Given the description of an element on the screen output the (x, y) to click on. 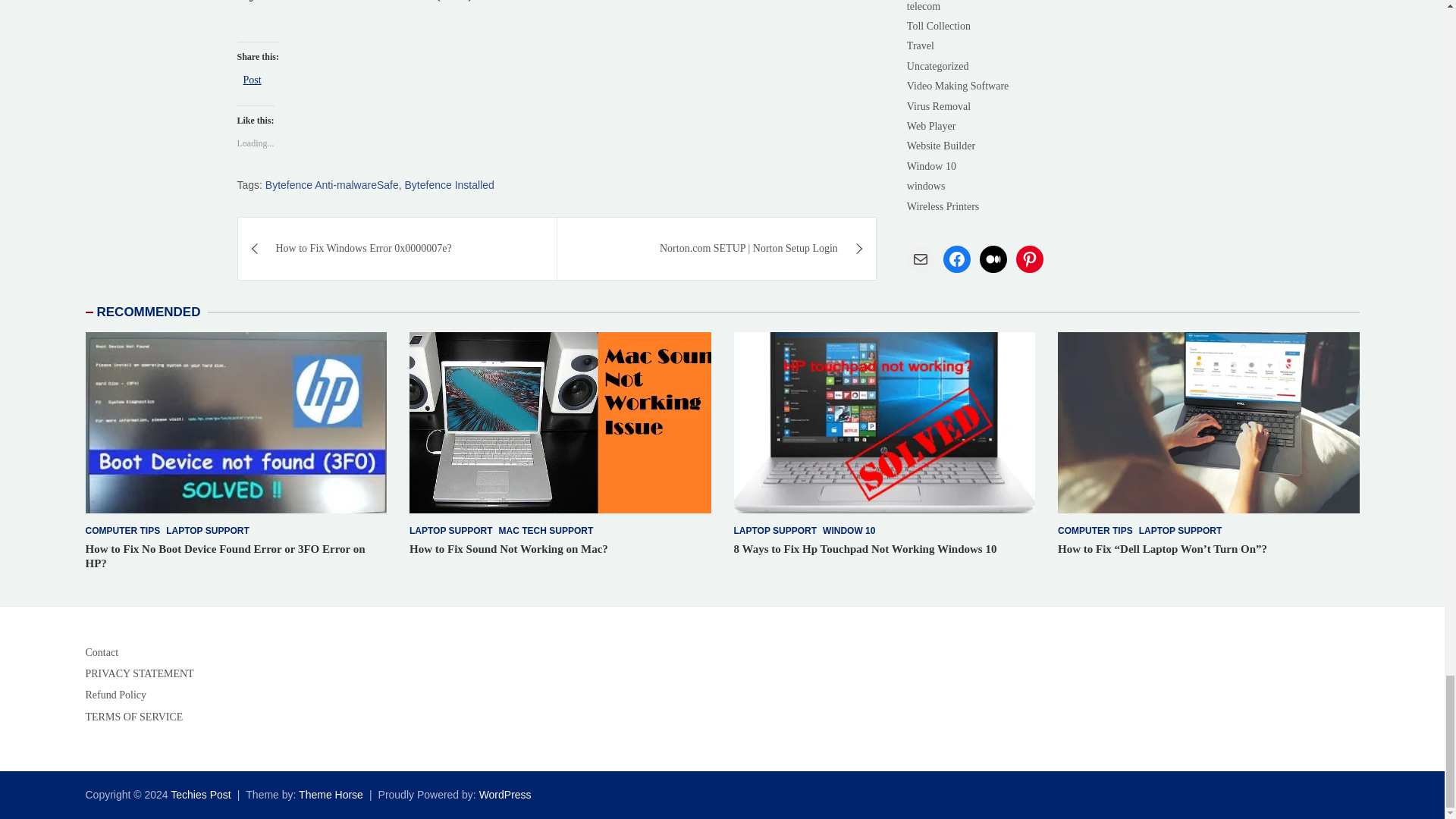
Post (251, 78)
Theme Horse (330, 794)
Bytefence Anti-malwareSafe (331, 184)
Techies Post (200, 794)
How to Fix Windows Error 0x0000007e? (397, 248)
WordPress (505, 794)
Bytefence Installed (449, 184)
